Given the description of an element on the screen output the (x, y) to click on. 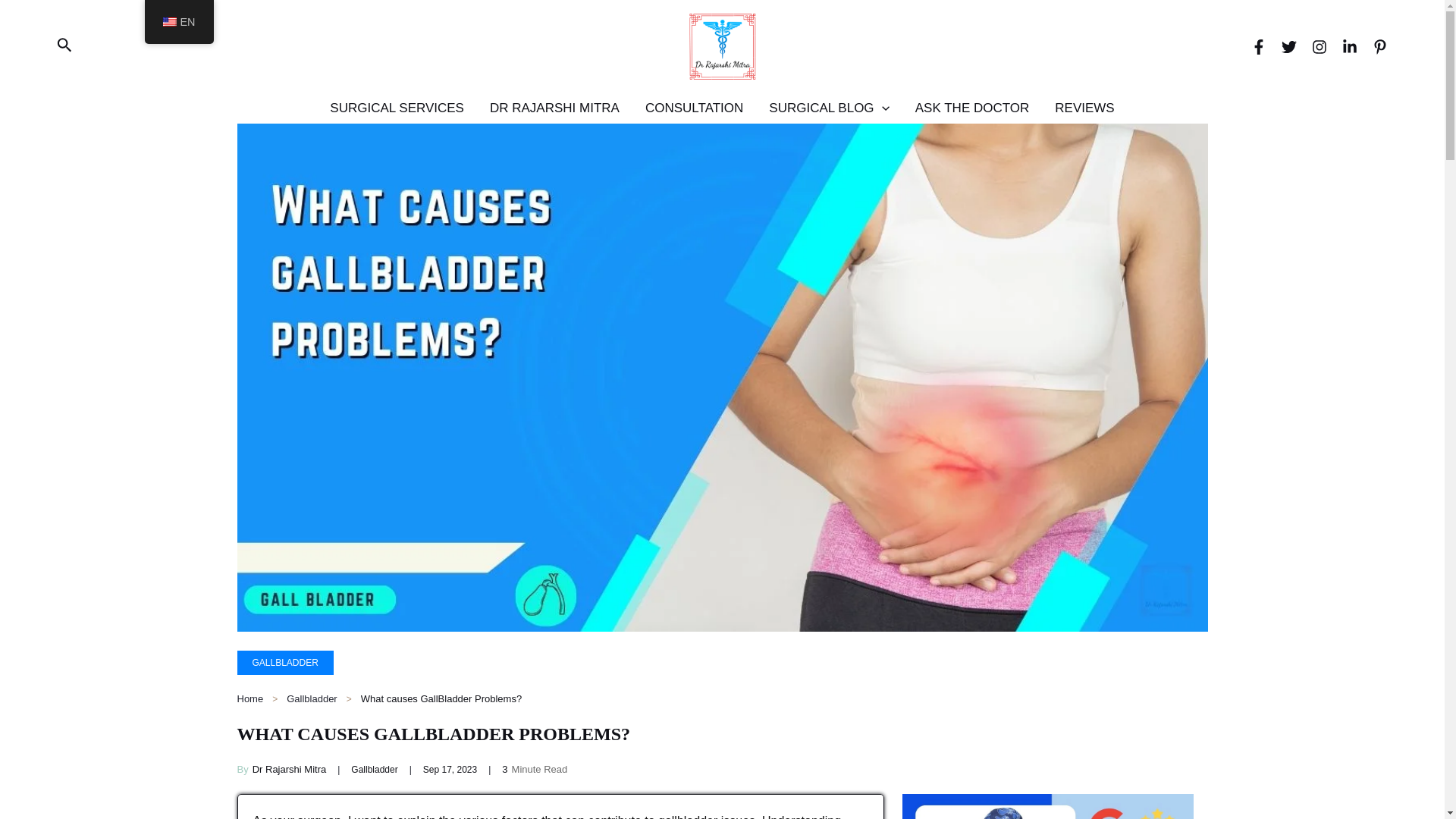
CONSULTATION (693, 108)
DR RAJARSHI MITRA (554, 108)
ASK THE DOCTOR (972, 108)
Home (249, 698)
GALLBLADDER (284, 662)
SURGICAL SERVICES (397, 108)
SURGICAL BLOG (828, 108)
REVIEWS (1084, 108)
